Given the description of an element on the screen output the (x, y) to click on. 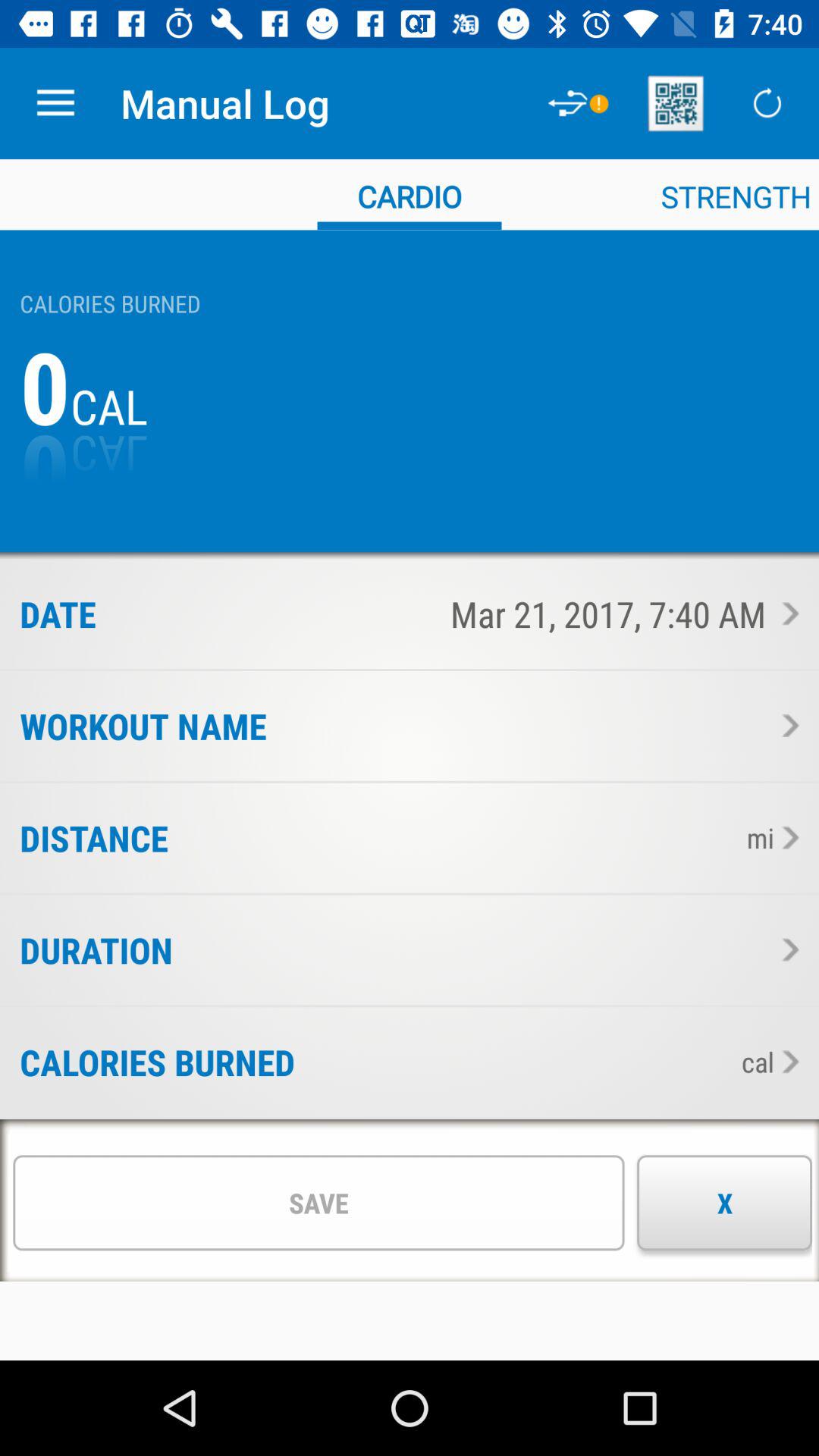
select item to the left of the mi (452, 837)
